Given the description of an element on the screen output the (x, y) to click on. 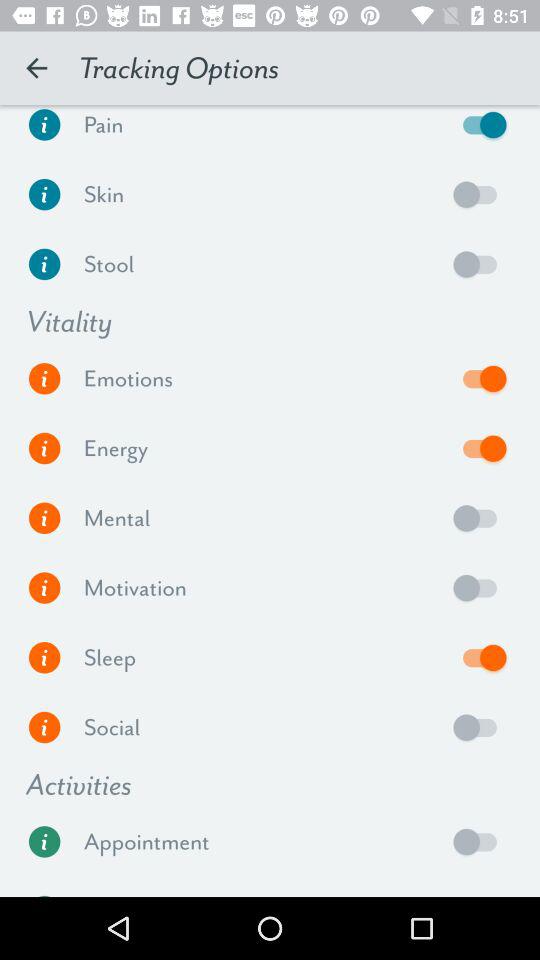
remove the pain tracking option (479, 129)
